Given the description of an element on the screen output the (x, y) to click on. 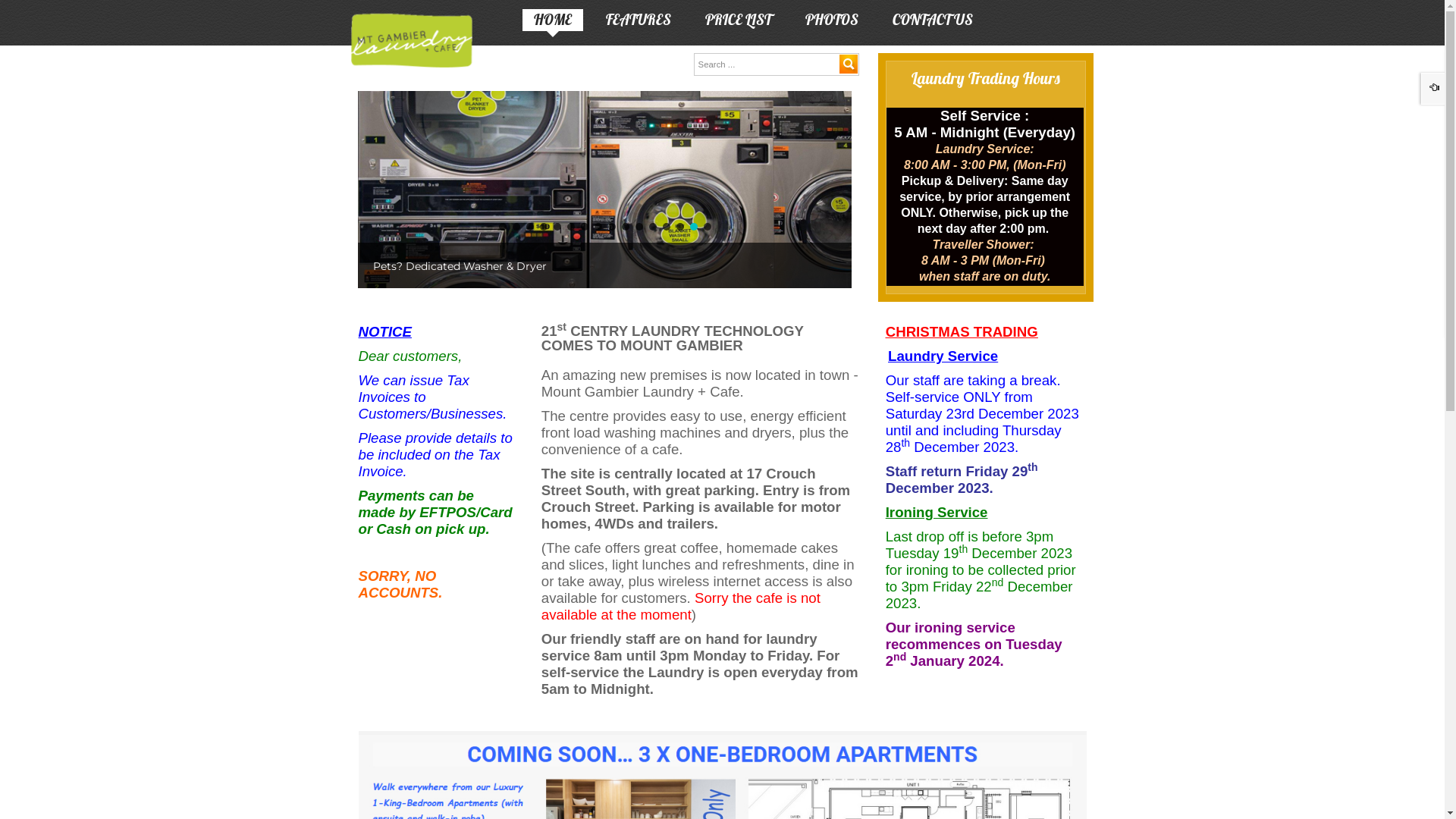
Mount Gambier Laundry + Cafe Element type: hover (410, 40)
PHOTOS Element type: text (831, 23)
CONTACT US Element type: text (932, 23)
FEATURES Element type: text (638, 23)
HOME Element type: text (552, 23)
PRICE LIST Element type: text (737, 23)
